Given the description of an element on the screen output the (x, y) to click on. 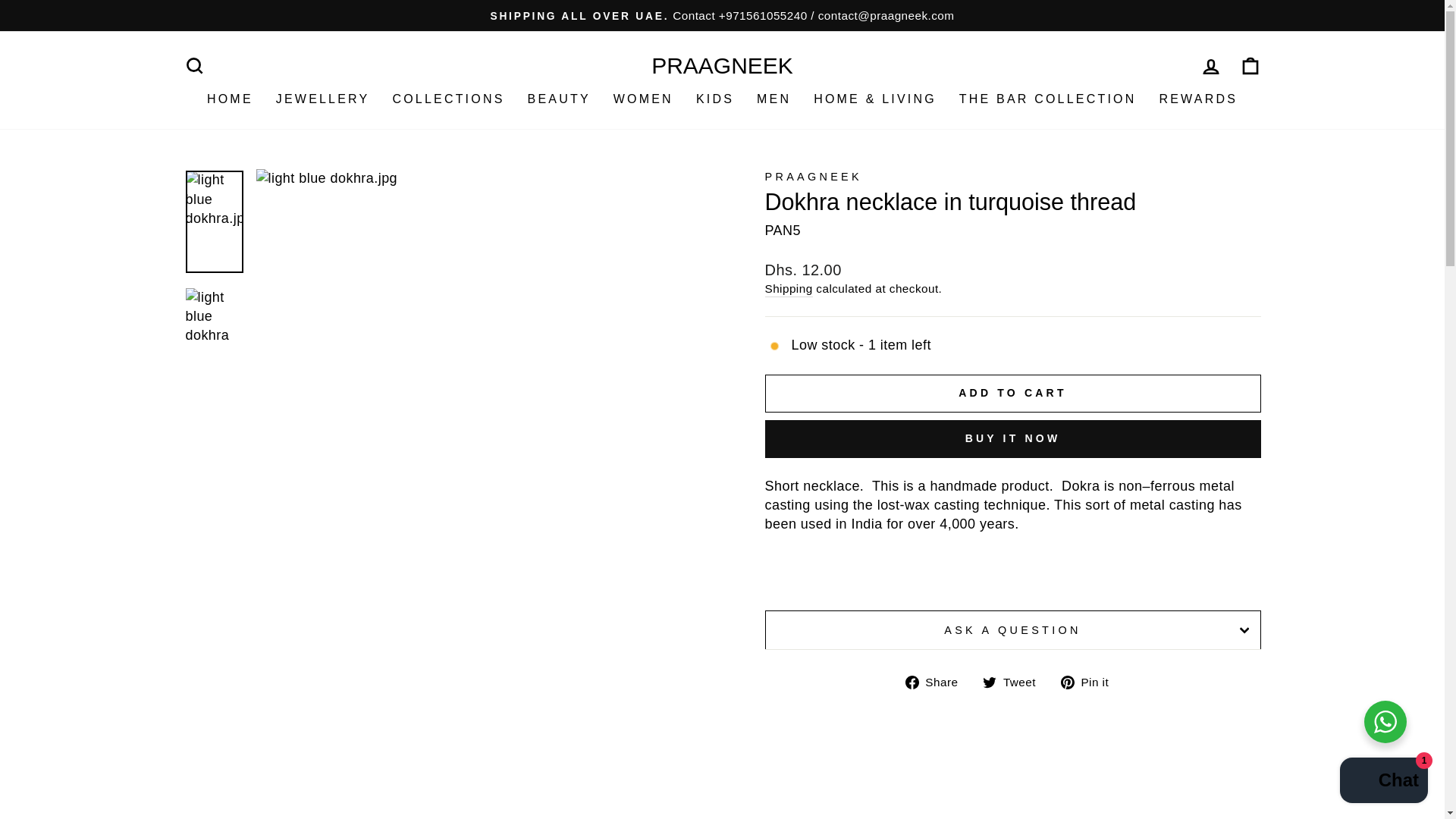
Tweet on Twitter (1014, 681)
Share on Facebook (937, 681)
Shopify online store chat (1383, 781)
Pin on Pinterest (1090, 681)
